Given the description of an element on the screen output the (x, y) to click on. 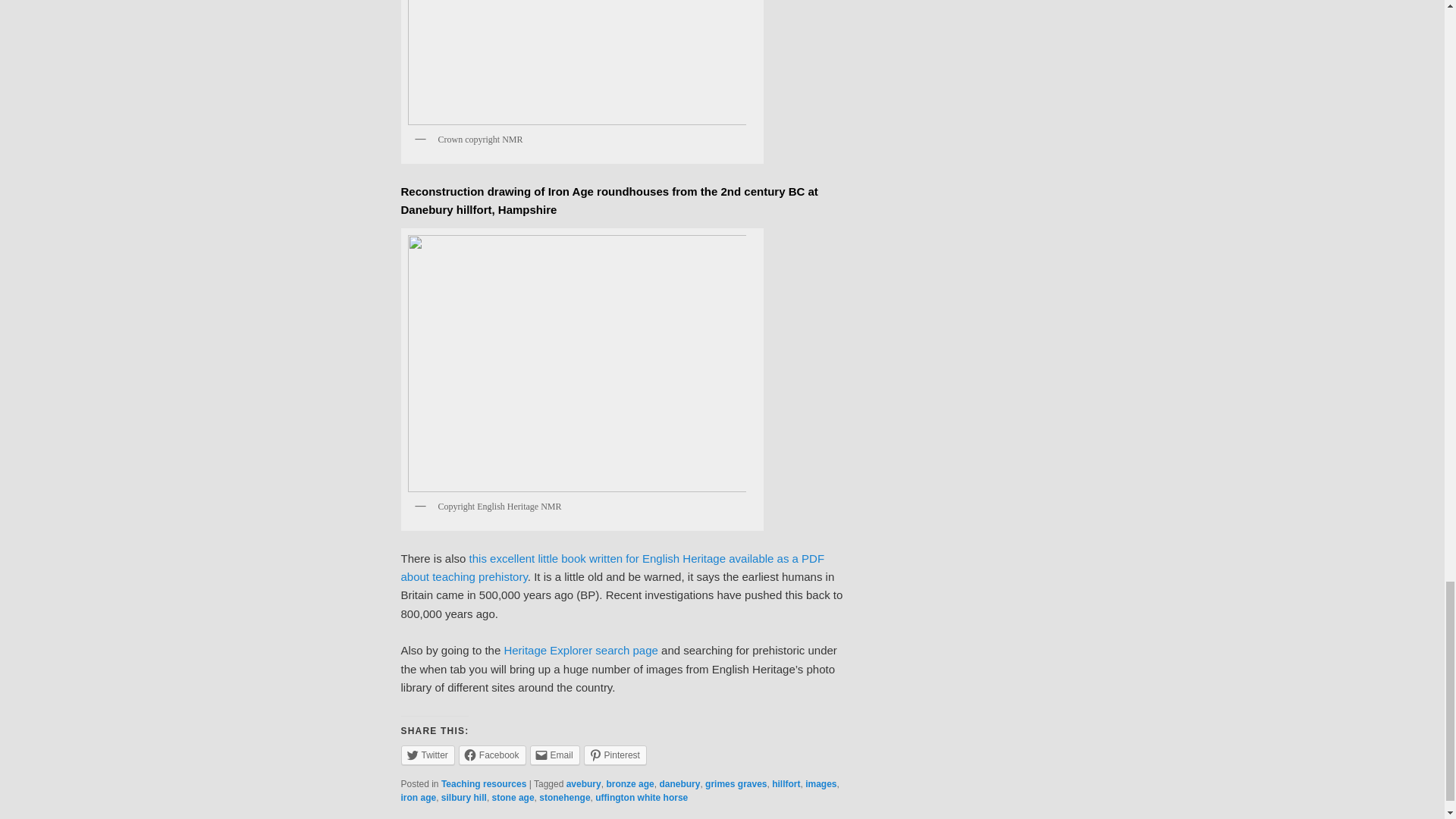
Click to share on Twitter (427, 754)
Click to share on Pinterest (614, 754)
Teaching resources (484, 783)
images (820, 783)
Email (554, 754)
Pinterest (614, 754)
iron age (417, 797)
hillfort (785, 783)
Click to share on Facebook (491, 754)
